Given the description of an element on the screen output the (x, y) to click on. 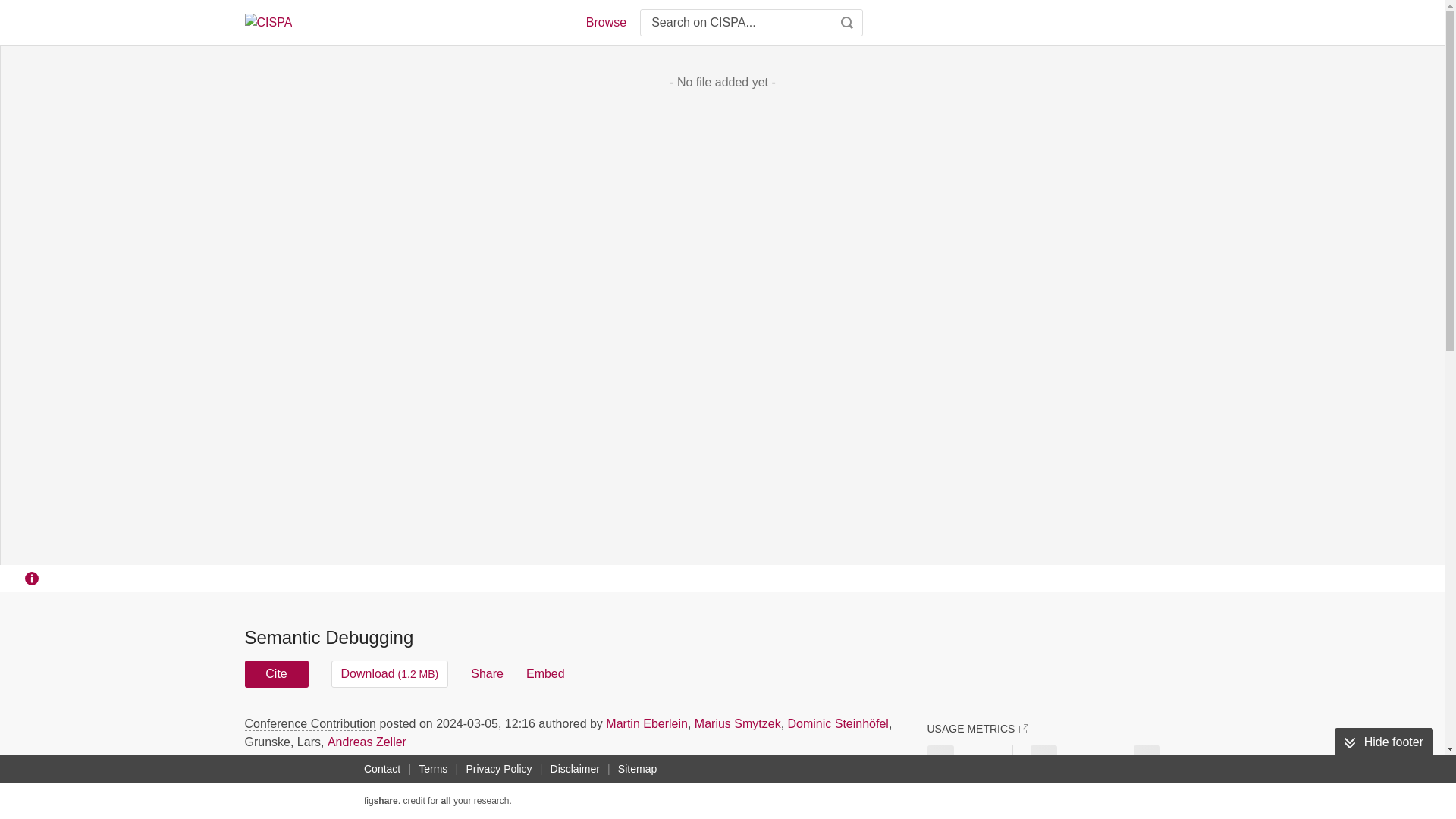
Share (486, 673)
Sitemap (636, 769)
Contact (381, 769)
Marius Smytzek (737, 723)
Martin Eberlein (646, 723)
Disclaimer (575, 769)
Andreas Zeller (366, 741)
Browse (605, 22)
Cite (275, 673)
Embed (544, 673)
